Given the description of an element on the screen output the (x, y) to click on. 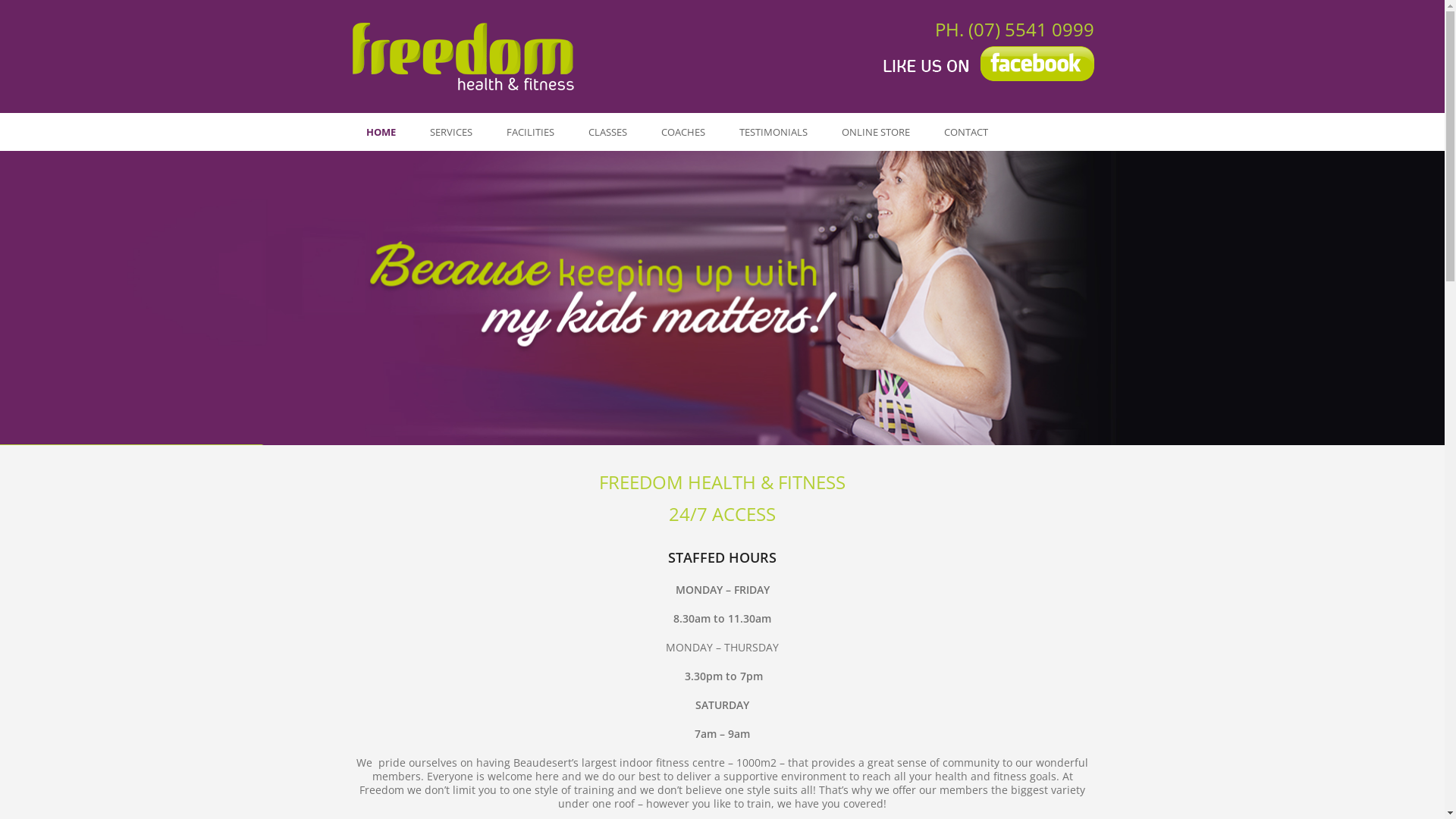
HOME Element type: text (380, 131)
CONTACT Element type: text (965, 131)
SERVICES Element type: text (450, 131)
COACHES Element type: text (683, 131)
FACILITIES Element type: text (530, 131)
Freedom Health & Fitness Element type: hover (463, 56)
TESTIMONIALS Element type: text (772, 131)
CLASSES Element type: text (607, 131)
ONLINE STORE Element type: text (875, 131)
